Given the description of an element on the screen output the (x, y) to click on. 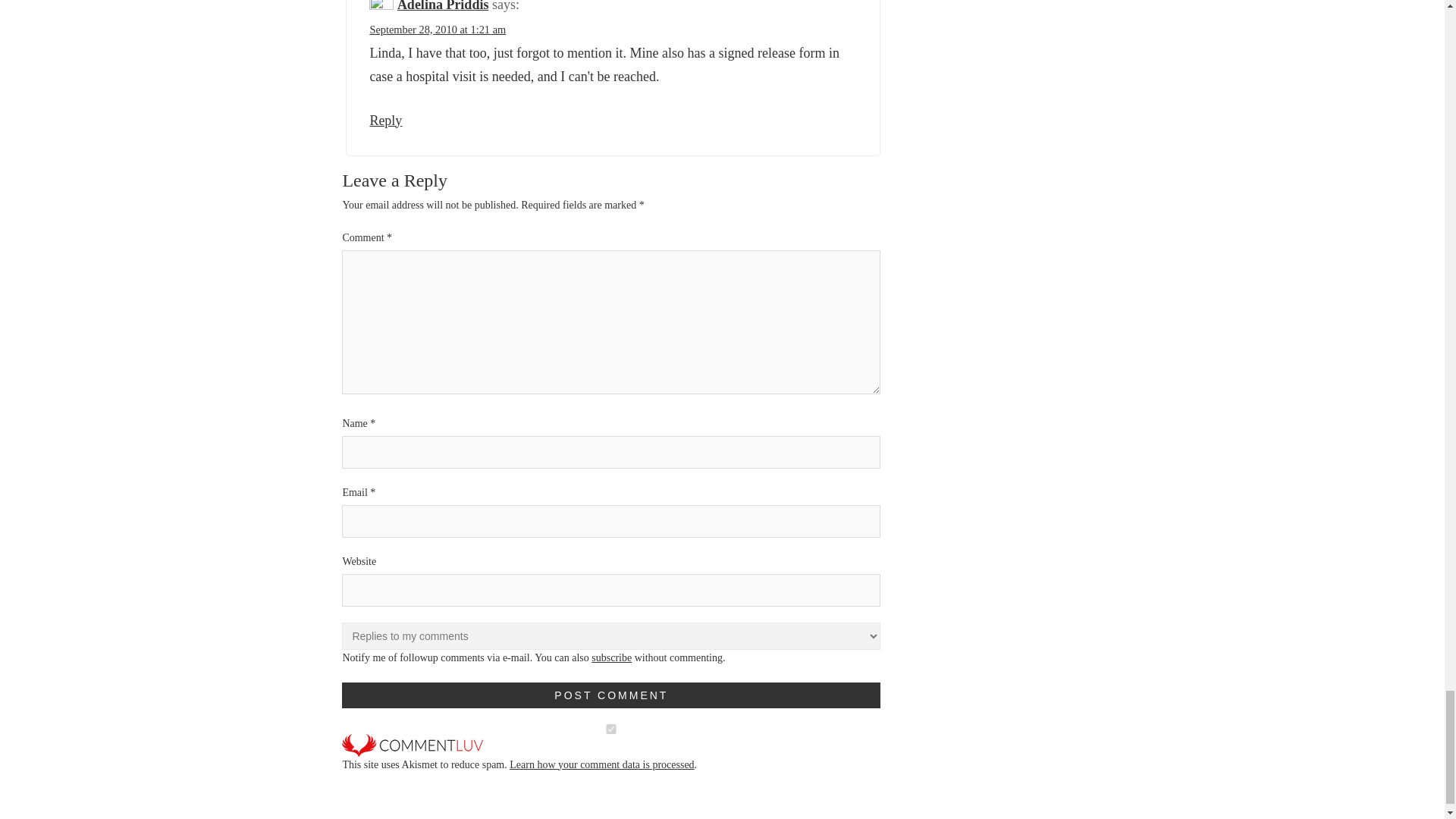
Post Comment (611, 695)
CommentLuv is enabled (412, 744)
on (611, 728)
